Given the description of an element on the screen output the (x, y) to click on. 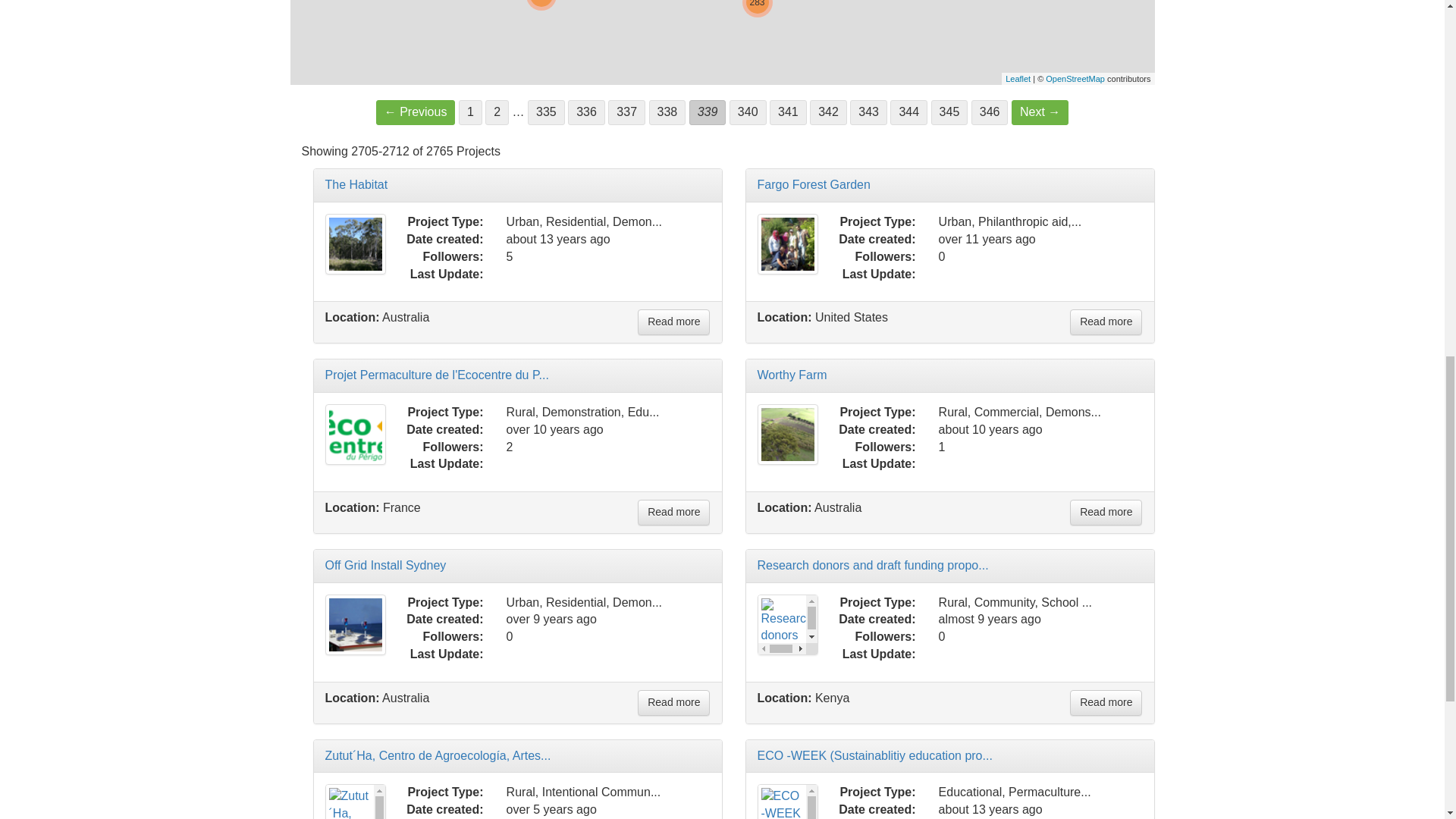
346 (990, 112)
Research donors and draft funding proposals (786, 624)
2 (496, 112)
Worthy Farm (786, 434)
Leaflet (1018, 78)
336 (586, 112)
345 (949, 112)
341 (788, 112)
A JS library for interactive maps (1018, 78)
338 (667, 112)
